Given the description of an element on the screen output the (x, y) to click on. 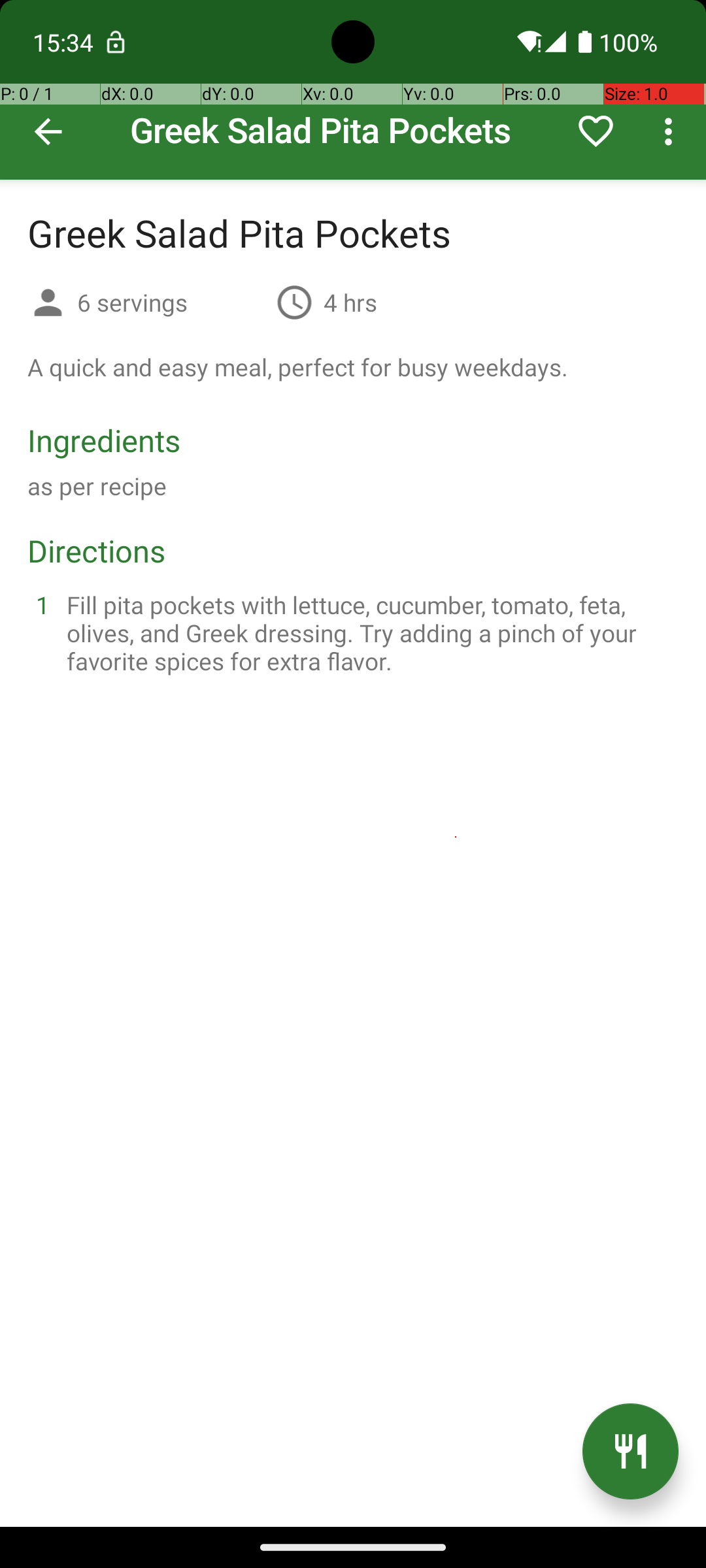
Fill pita pockets with lettuce, cucumber, tomato, feta, olives, and Greek dressing. Try adding a pinch of your favorite spices for extra flavor. Element type: android.widget.TextView (368, 632)
